Given the description of an element on the screen output the (x, y) to click on. 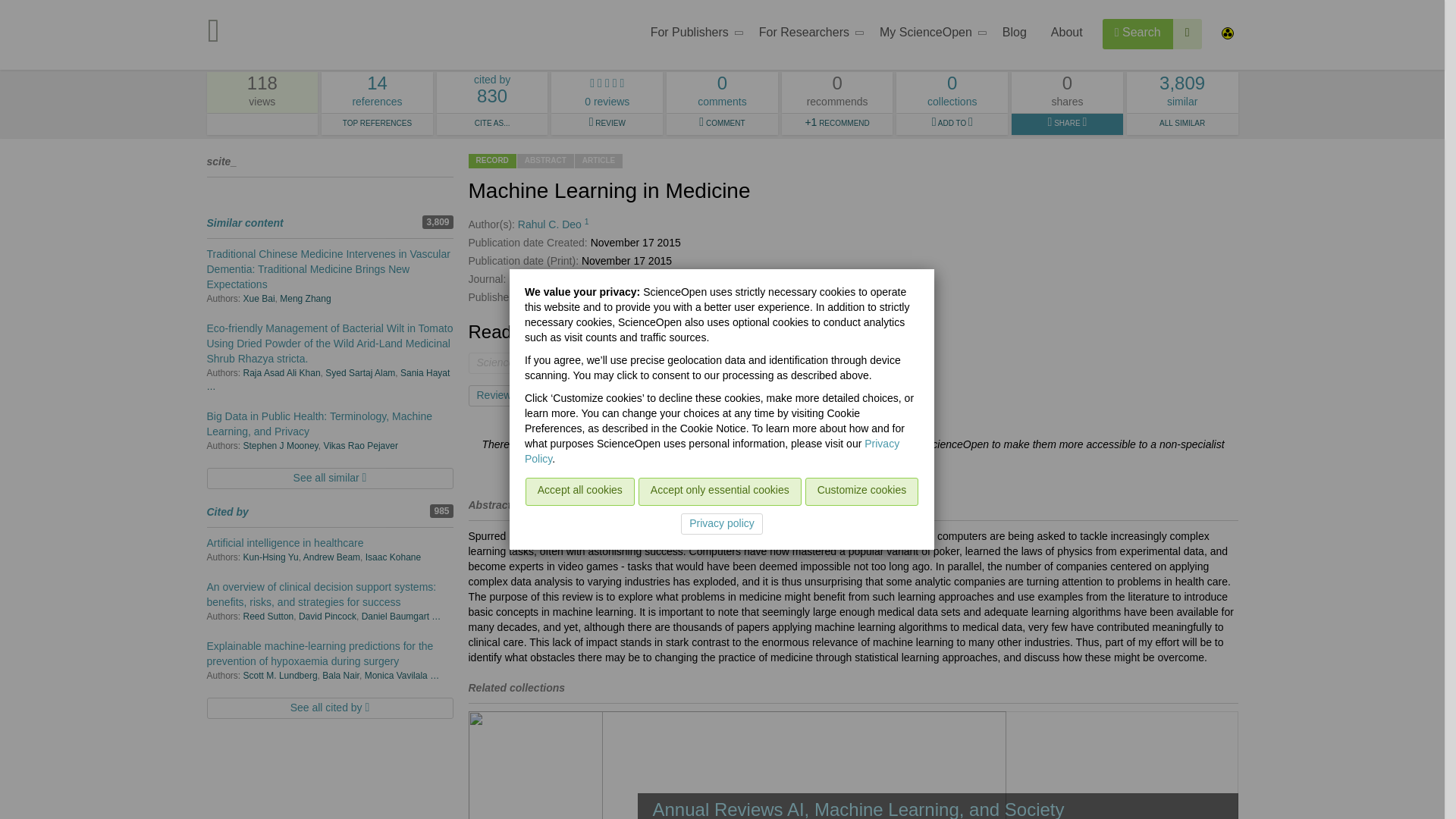
Search (1137, 33)
For Publishers (692, 34)
For Researchers (806, 34)
Bookmark (569, 395)
My ScienceOpen (376, 92)
Advanced search (928, 34)
